Given the description of an element on the screen output the (x, y) to click on. 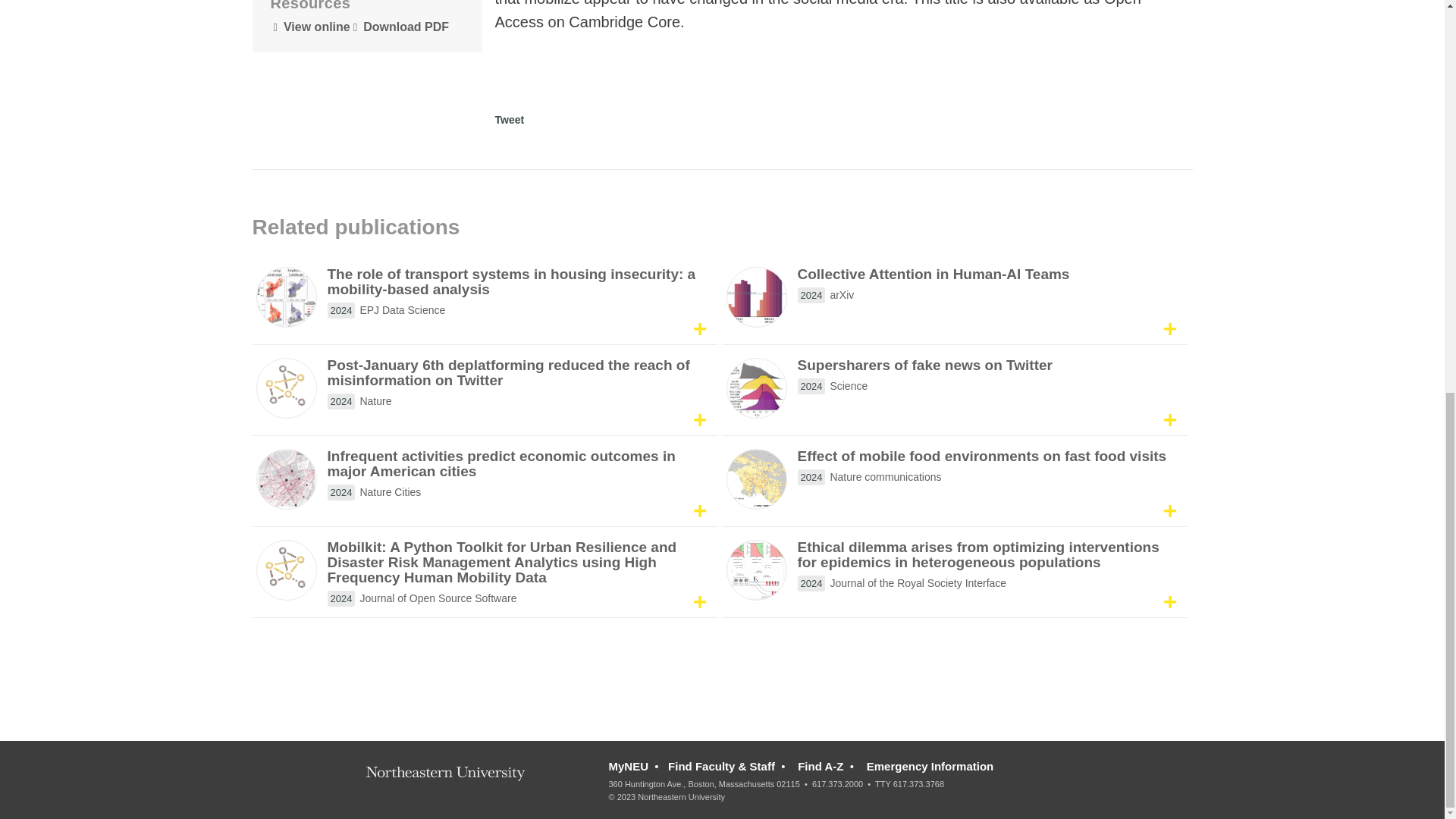
Tweet (509, 119)
